Given the description of an element on the screen output the (x, y) to click on. 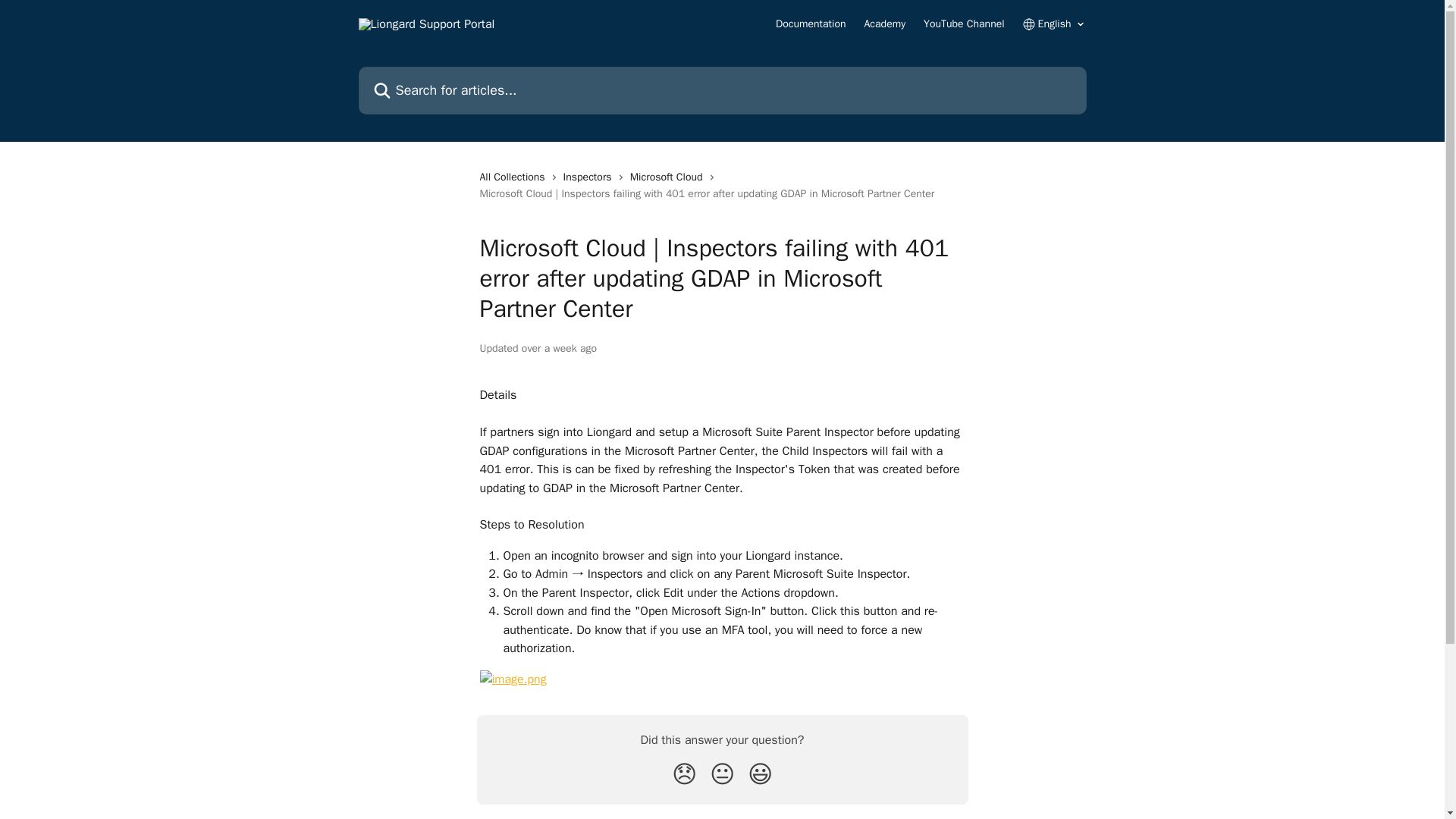
Inspectors (590, 176)
Documentation (810, 23)
All Collections (514, 176)
Academy (884, 23)
YouTube Channel (963, 23)
Neutral (722, 774)
Microsoft Cloud (669, 176)
Disappointed (684, 774)
Smiley (760, 774)
